Given the description of an element on the screen output the (x, y) to click on. 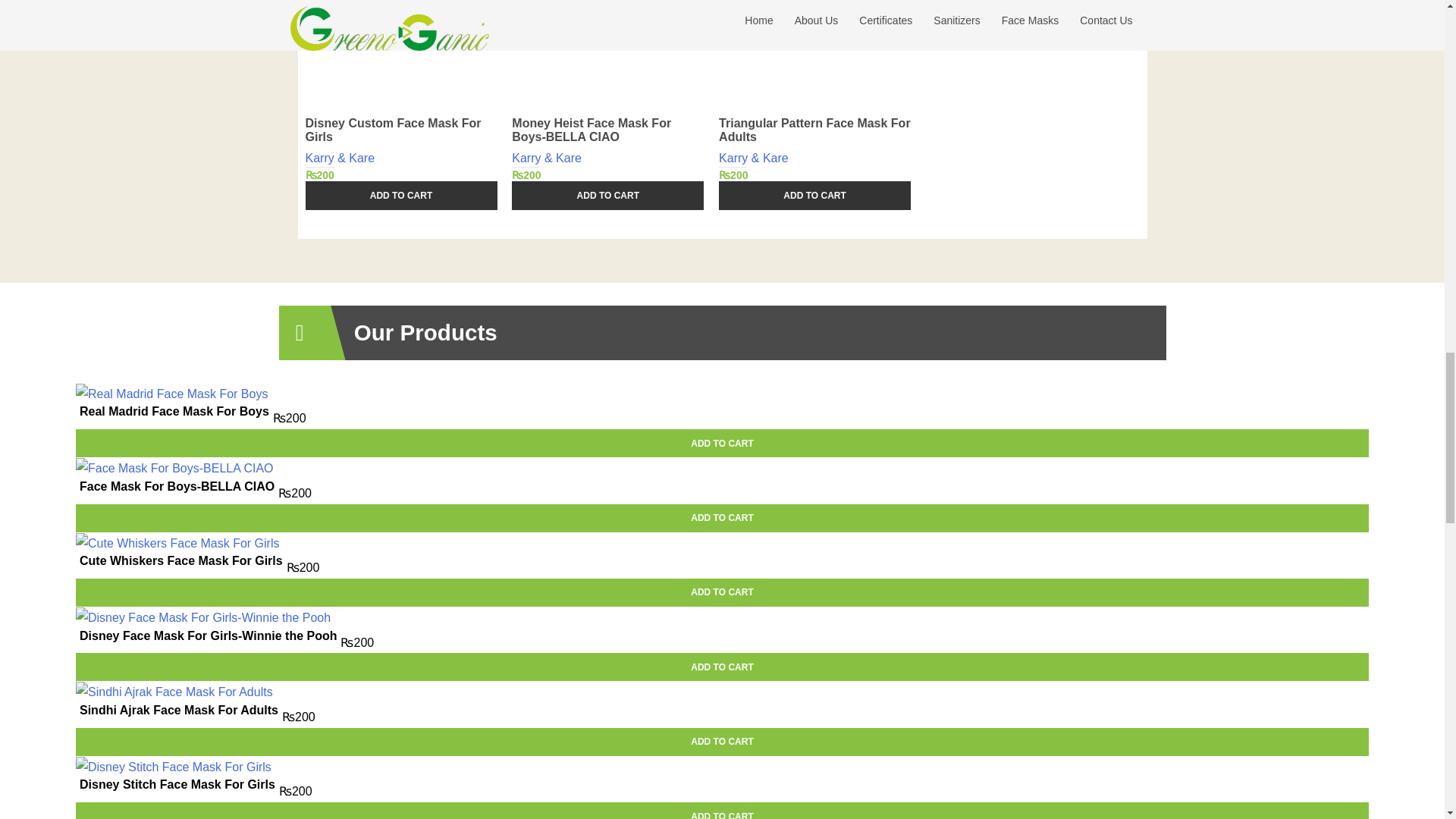
ADD TO CART (815, 194)
Triangular Pattern Face Mask For Adults (815, 71)
ADD TO CART (721, 443)
ADD TO CART (400, 194)
Money Heist Face Mask For Boys-BELLA CIAO (607, 71)
Real Madrid Face Mask For Boys (174, 411)
ADD TO CART (607, 194)
Disney Custom Face Mask For Girls (400, 71)
